Given the description of an element on the screen output the (x, y) to click on. 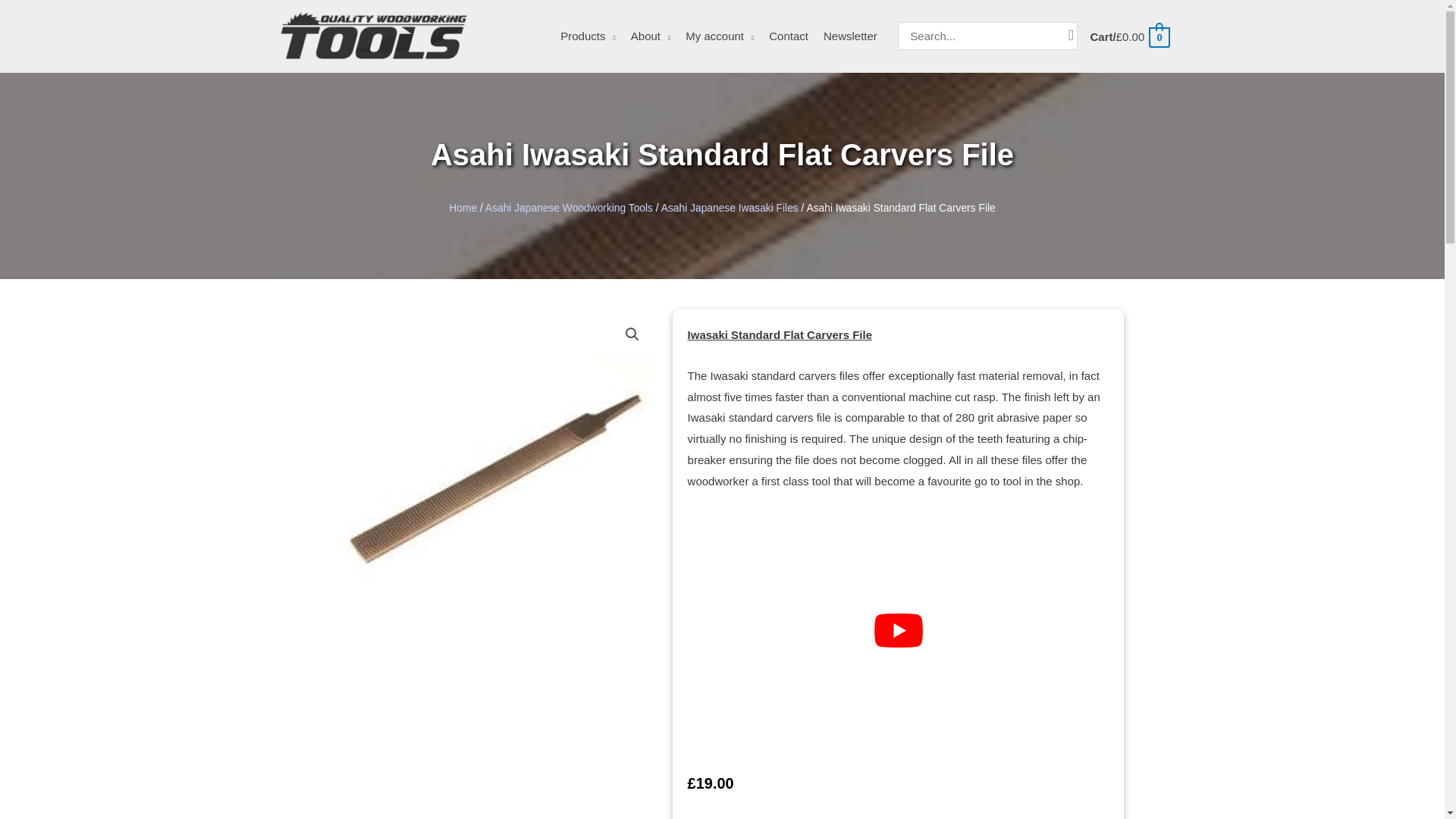
Asahi Iwasaki Standard Flat Carvers File (495, 469)
Products (588, 36)
